Given the description of an element on the screen output the (x, y) to click on. 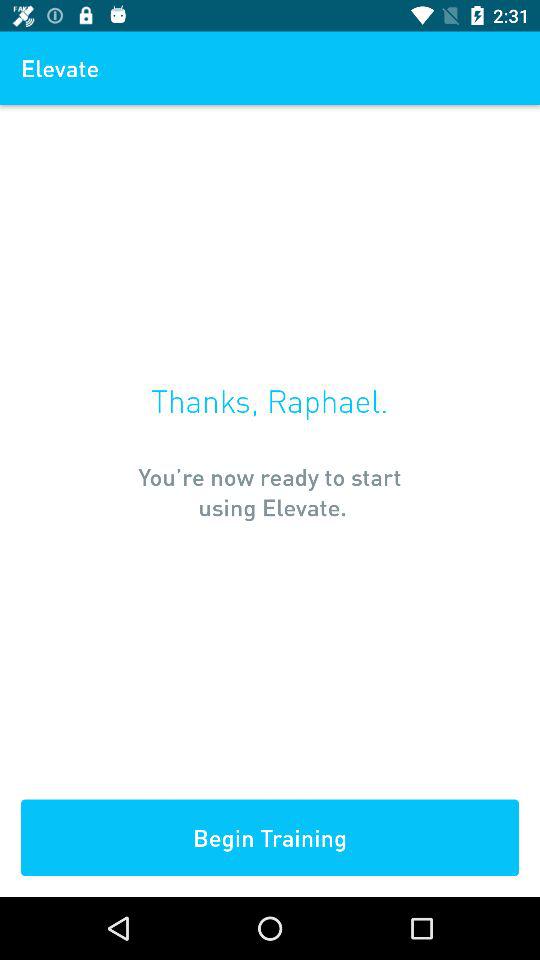
choose the icon below the you re now item (270, 837)
